Given the description of an element on the screen output the (x, y) to click on. 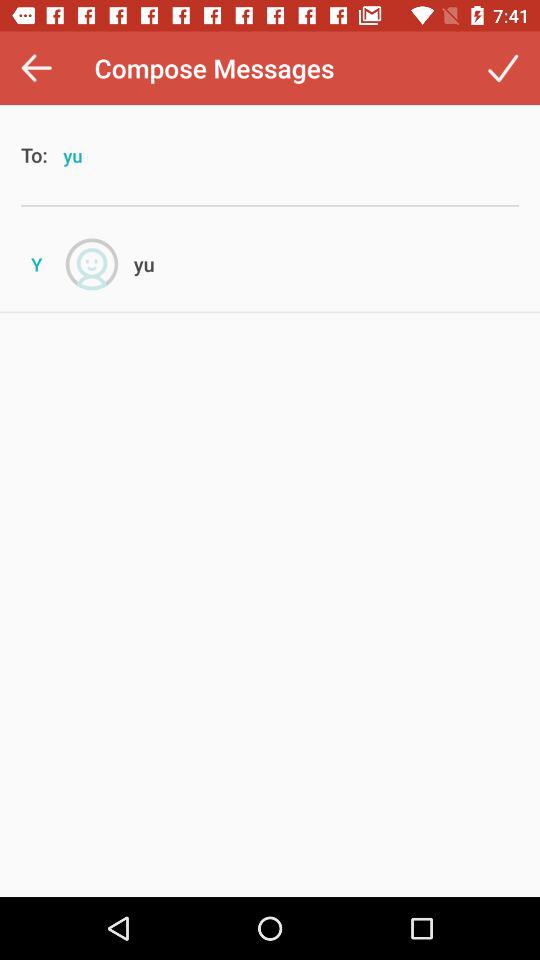
press icon above the to: (36, 68)
